Given the description of an element on the screen output the (x, y) to click on. 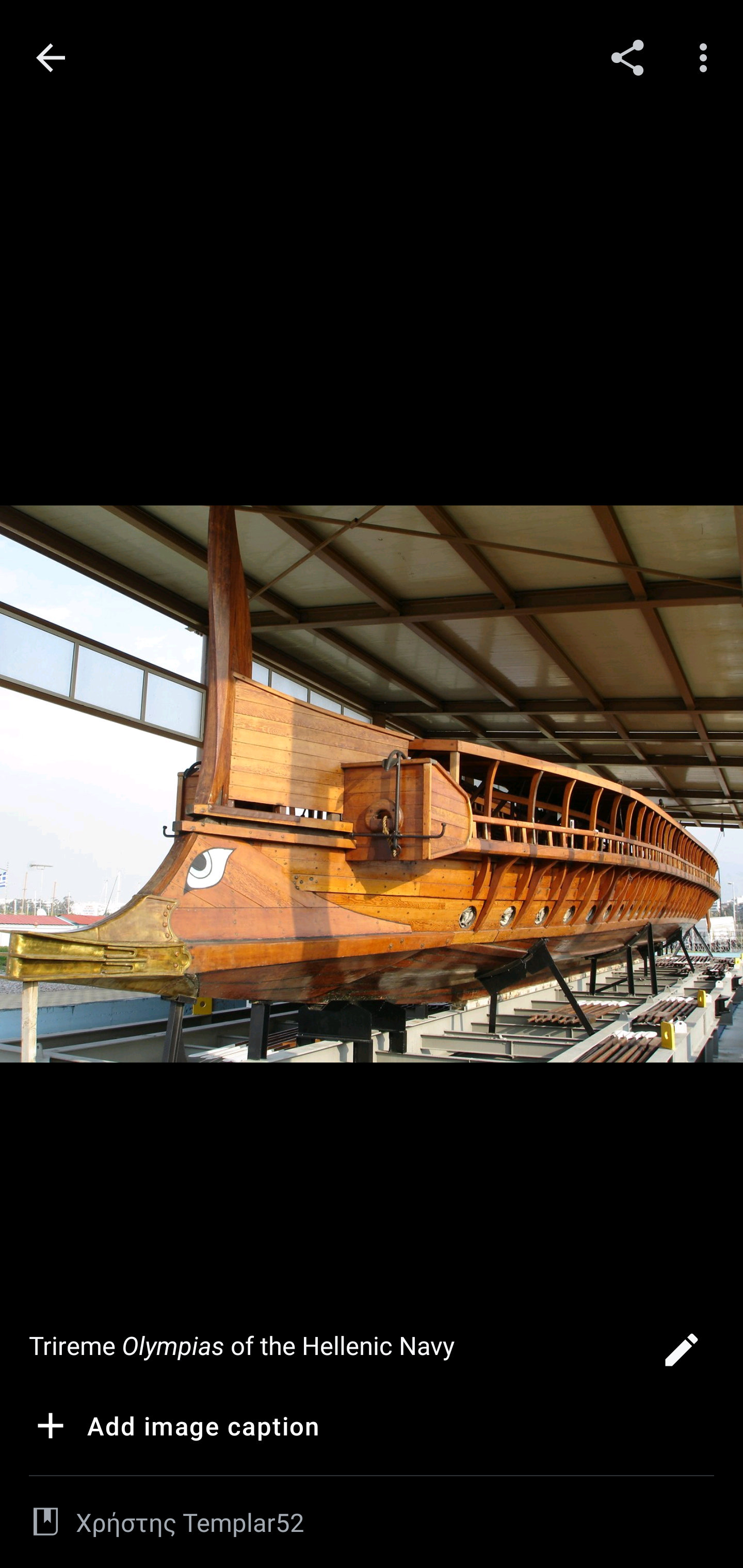
Navigate up (50, 57)
Share (626, 57)
More options (706, 57)
Edit image caption (681, 1355)
Add image caption (174, 1428)
Attribution (44, 1521)
